Given the description of an element on the screen output the (x, y) to click on. 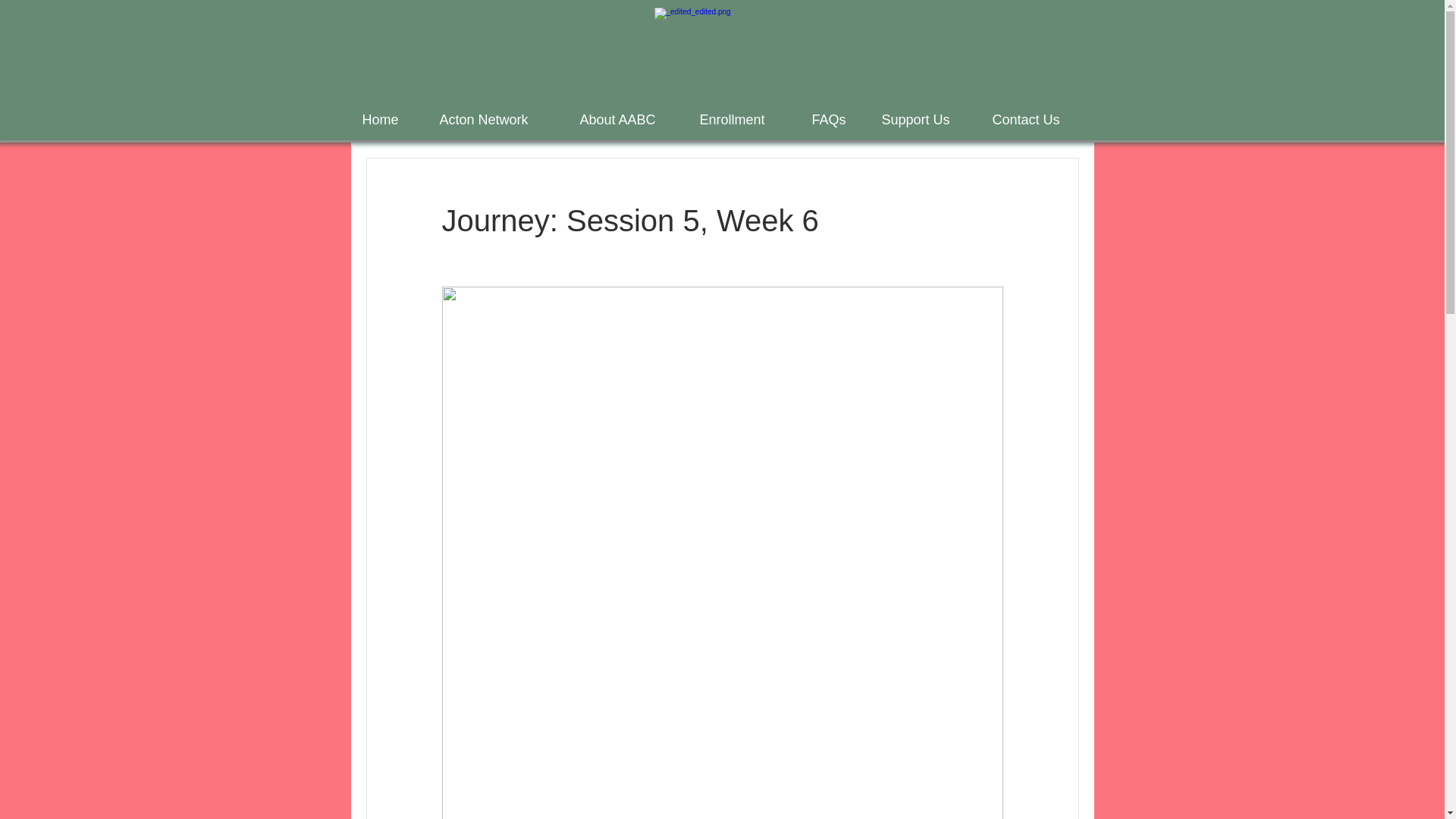
Support Us (925, 119)
Enrollment (744, 119)
Contact Us (1037, 119)
FAQs (835, 119)
Home (389, 119)
